Given the description of an element on the screen output the (x, y) to click on. 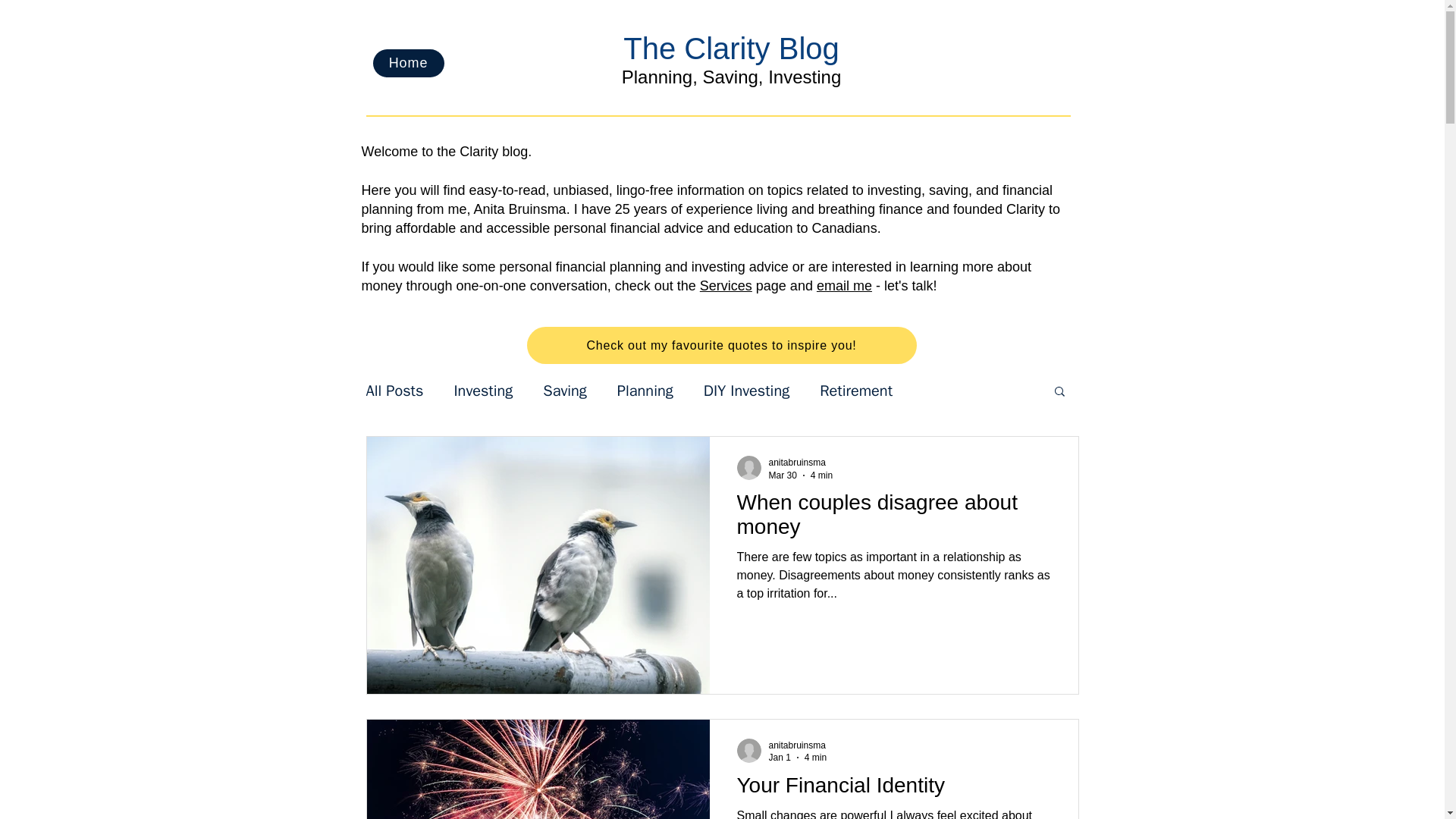
Investing (482, 390)
4 min (816, 757)
Services (726, 285)
4 min (821, 475)
Planning (644, 390)
anitabruinsma (800, 462)
anitabruinsma (796, 745)
anitabruinsma (796, 462)
All Posts (394, 390)
Your Financial Identity (893, 789)
Home (408, 62)
Retirement (855, 390)
Saving (564, 390)
email me (844, 285)
anitabruinsma (797, 744)
